Given the description of an element on the screen output the (x, y) to click on. 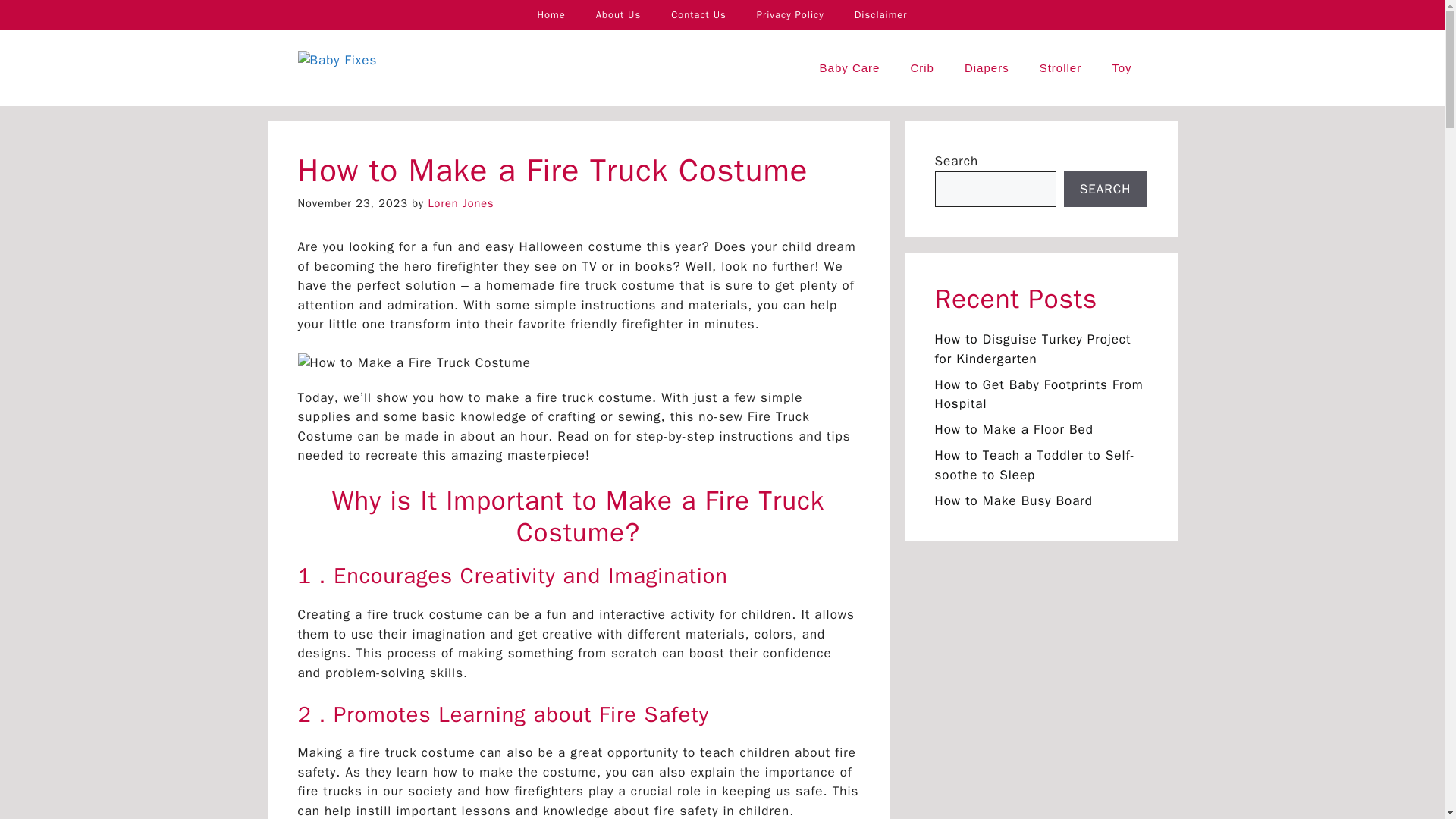
How to Make Busy Board (1013, 500)
Privacy Policy (790, 15)
How to Get Baby Footprints From Hospital (1038, 393)
Baby Care (850, 67)
Home (550, 15)
About Us (618, 15)
How to Disguise Turkey Project for Kindergarten (1032, 348)
Stroller (1061, 67)
How to Make a Floor Bed (1013, 429)
Disclaimer (881, 15)
Toy (1121, 67)
Diapers (987, 67)
Crib (922, 67)
Contact Us (698, 15)
Loren Jones (460, 202)
